Given the description of an element on the screen output the (x, y) to click on. 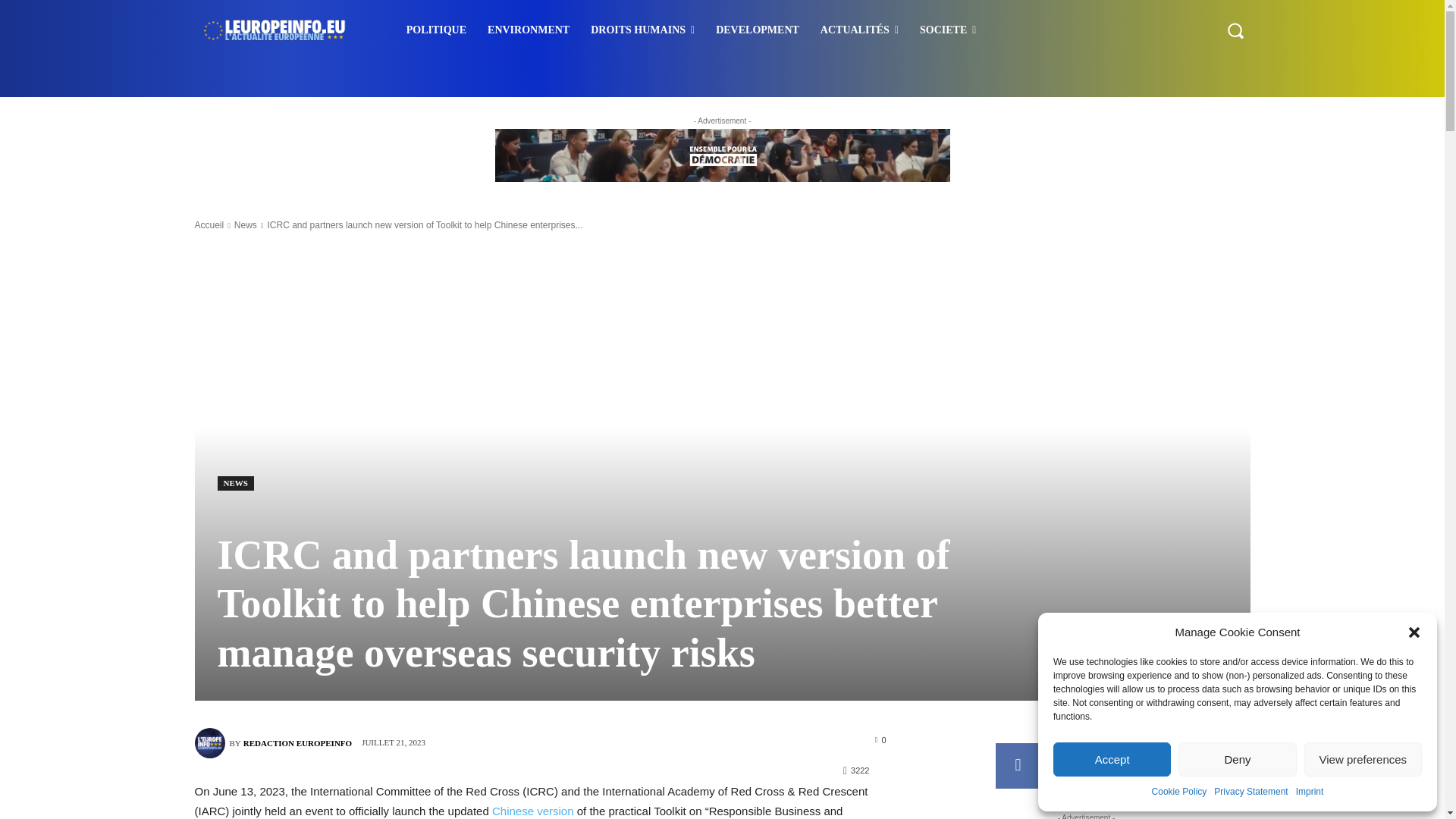
POLITIQUE (436, 30)
Accept (1111, 759)
View preferences (1363, 759)
Cookie Policy (1179, 791)
Privacy Statement (1250, 791)
ENVIRONMENT (528, 30)
Deny (1236, 759)
Imprint (1309, 791)
DROITS HUMAINS (641, 30)
